Given the description of an element on the screen output the (x, y) to click on. 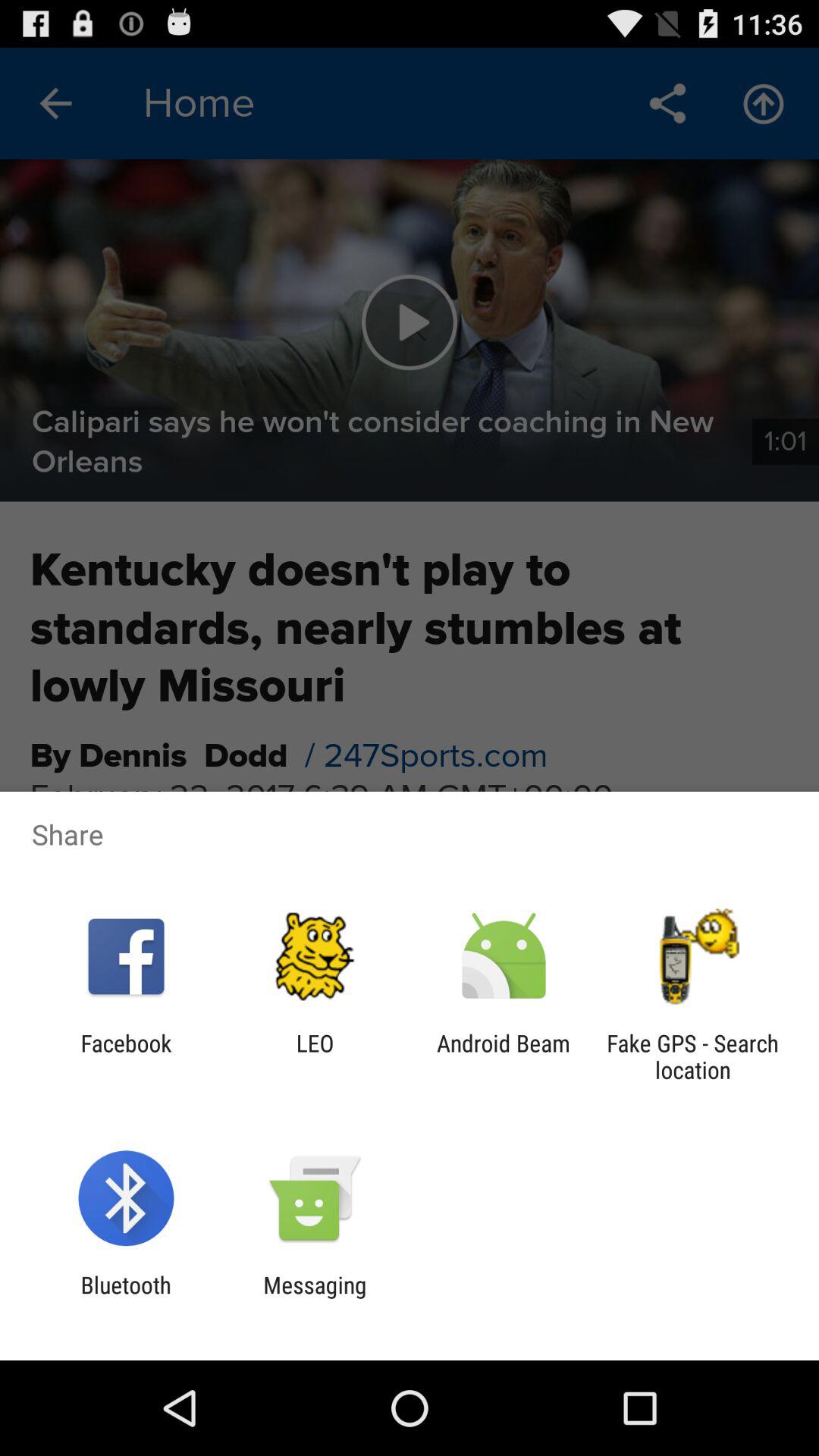
select messaging item (314, 1298)
